Given the description of an element on the screen output the (x, y) to click on. 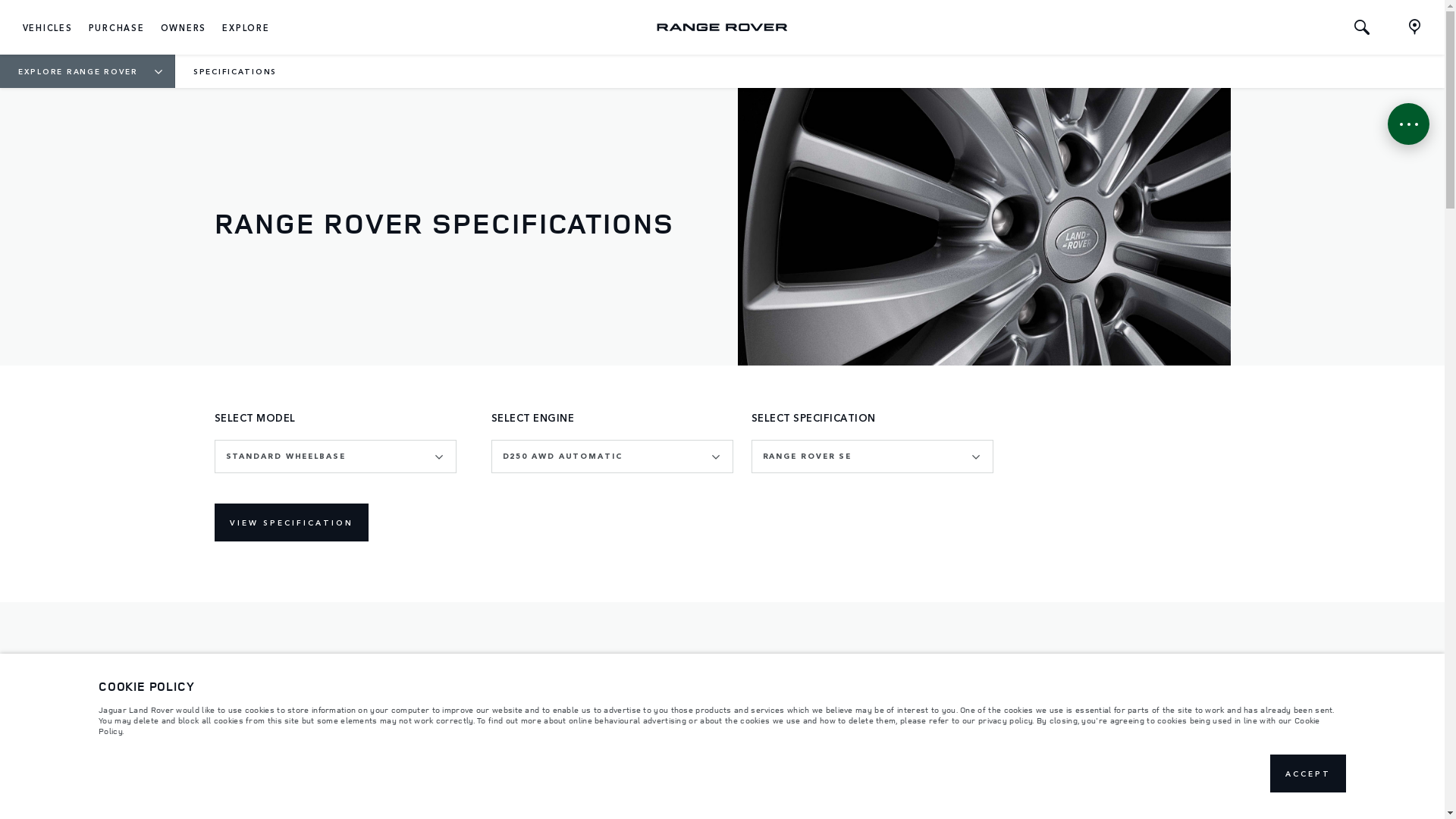
VEHICLES Element type: text (47, 27)
PURCHASE Element type: text (116, 27)
ACCEPT Element type: text (1308, 773)
EXPLORE Element type: text (245, 27)
OWNERS Element type: text (183, 27)
VIEW SPECIFICATION Element type: text (290, 522)
